Given the description of an element on the screen output the (x, y) to click on. 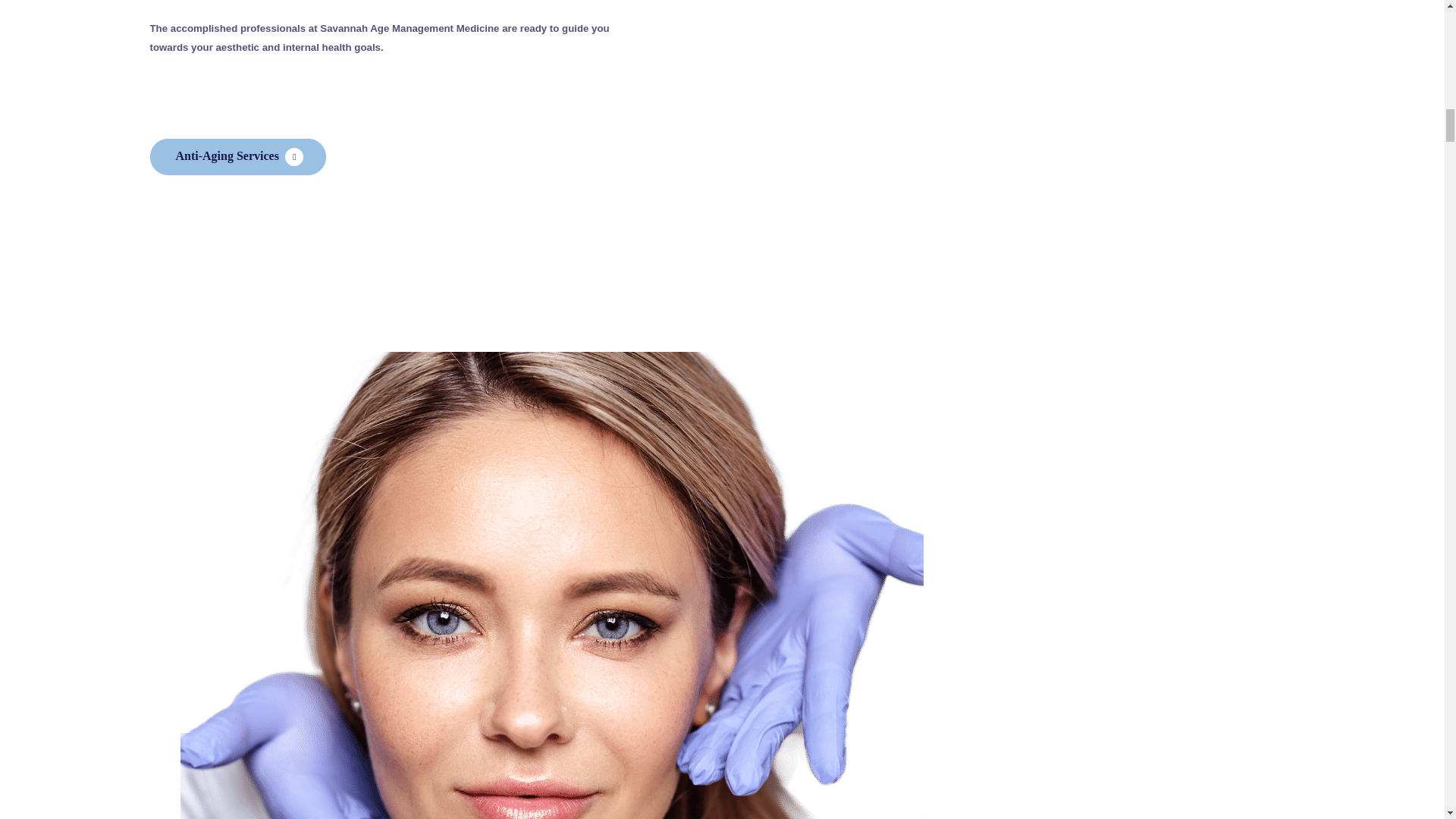
Anti-Aging Services (237, 156)
